Given the description of an element on the screen output the (x, y) to click on. 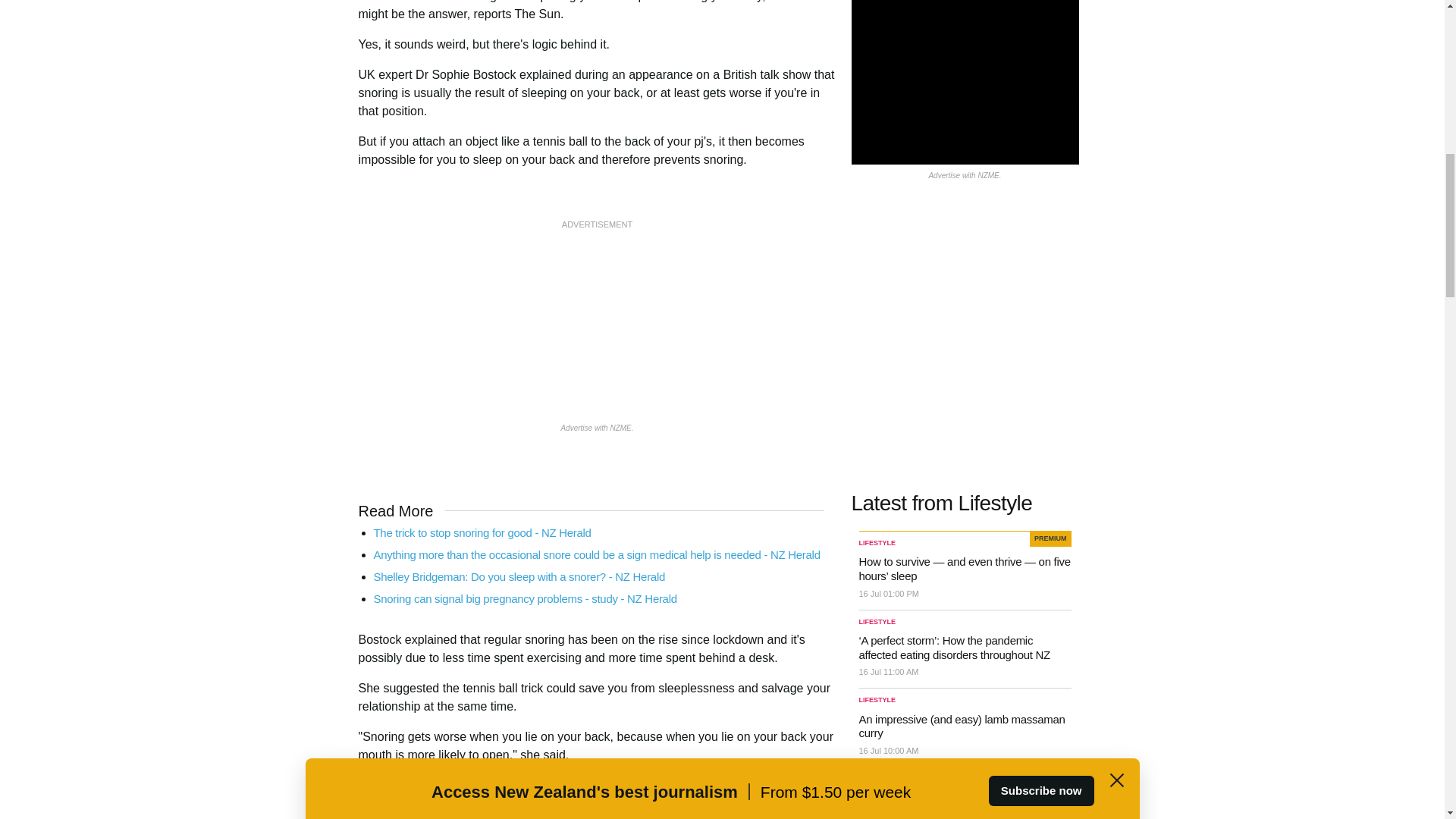
3rd party ad content (597, 817)
3rd party ad content (597, 327)
